Given the description of an element on the screen output the (x, y) to click on. 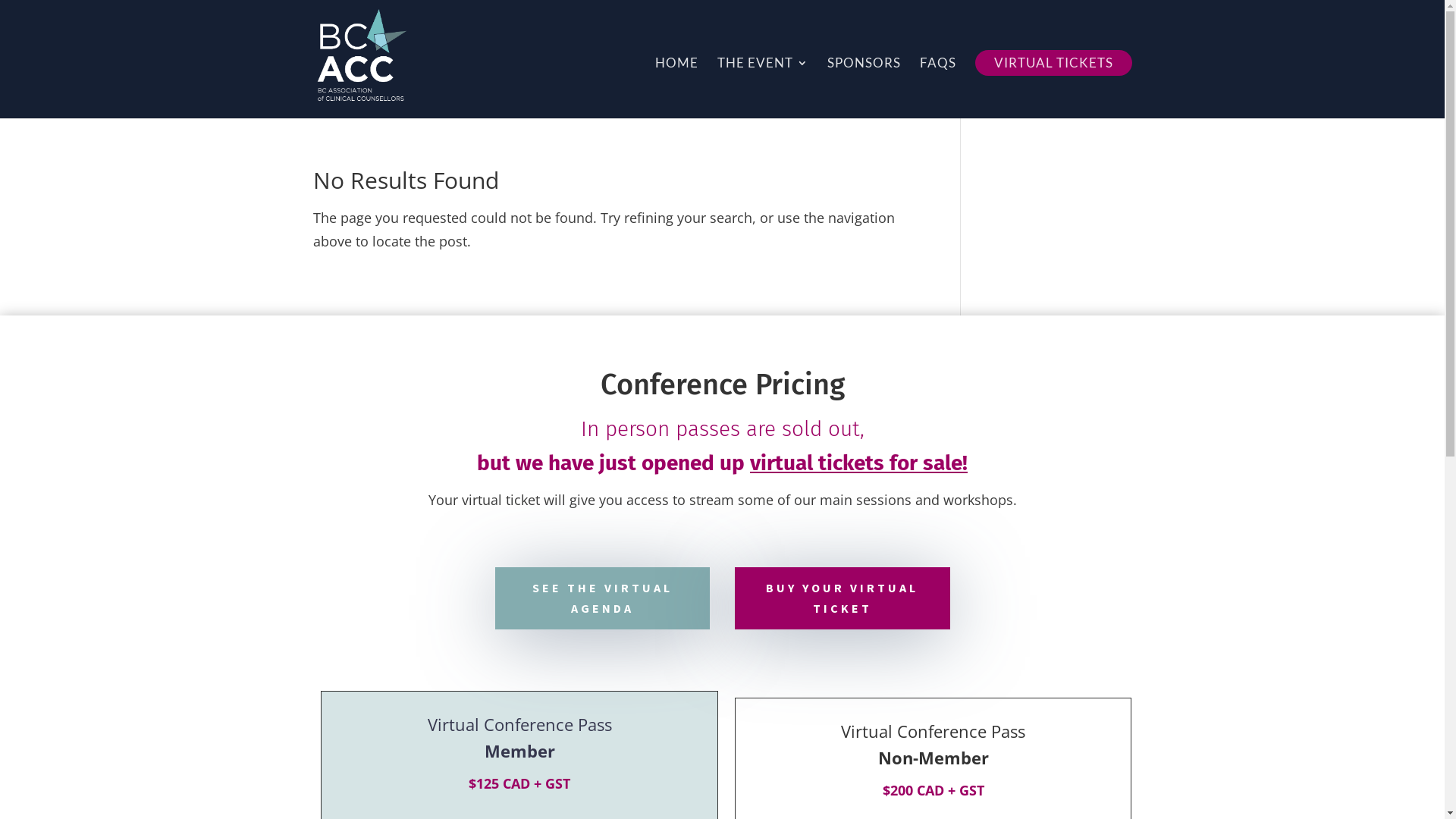
THE EVENT Element type: text (762, 87)
VIRTUAL TICKETS Element type: text (1053, 62)
SPONSORS Element type: text (863, 87)
BUY YOUR VIRTUAL TICKET Element type: text (842, 598)
HOME Element type: text (676, 87)
FAQS Element type: text (937, 87)
SEE THE VIRTUAL AGENDA Element type: text (601, 598)
